Given the description of an element on the screen output the (x, y) to click on. 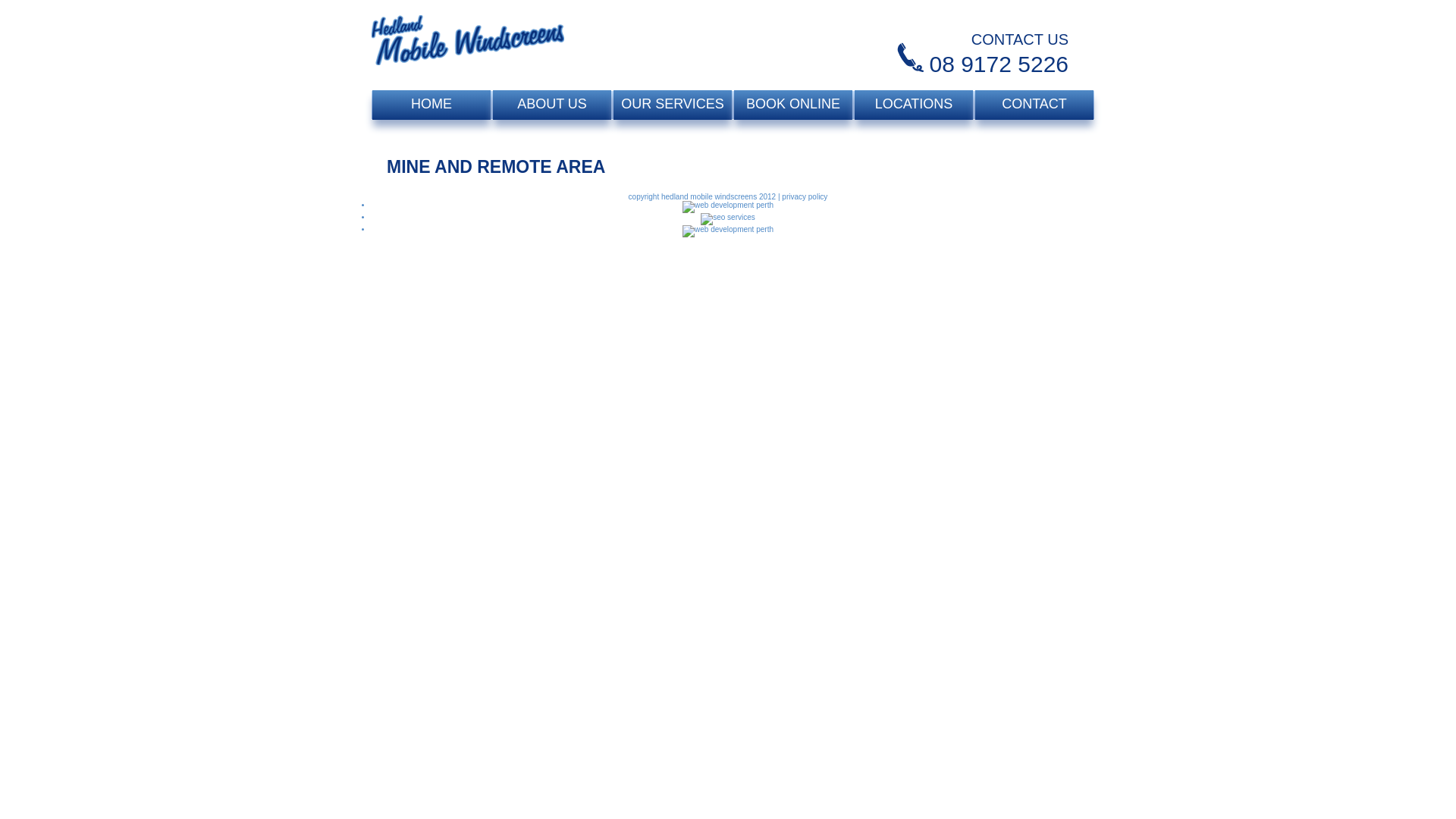
CONTACT Element type: text (1034, 104)
BOOK ONLINE Element type: text (793, 104)
HOME Element type: text (431, 104)
OUR SERVICES Element type: text (672, 104)
LOCATIONS Element type: text (913, 104)
privacy policy Element type: text (804, 196)
Hedland Mobile Windscreens Element type: text (467, 45)
ABOUT US Element type: text (551, 104)
